Given the description of an element on the screen output the (x, y) to click on. 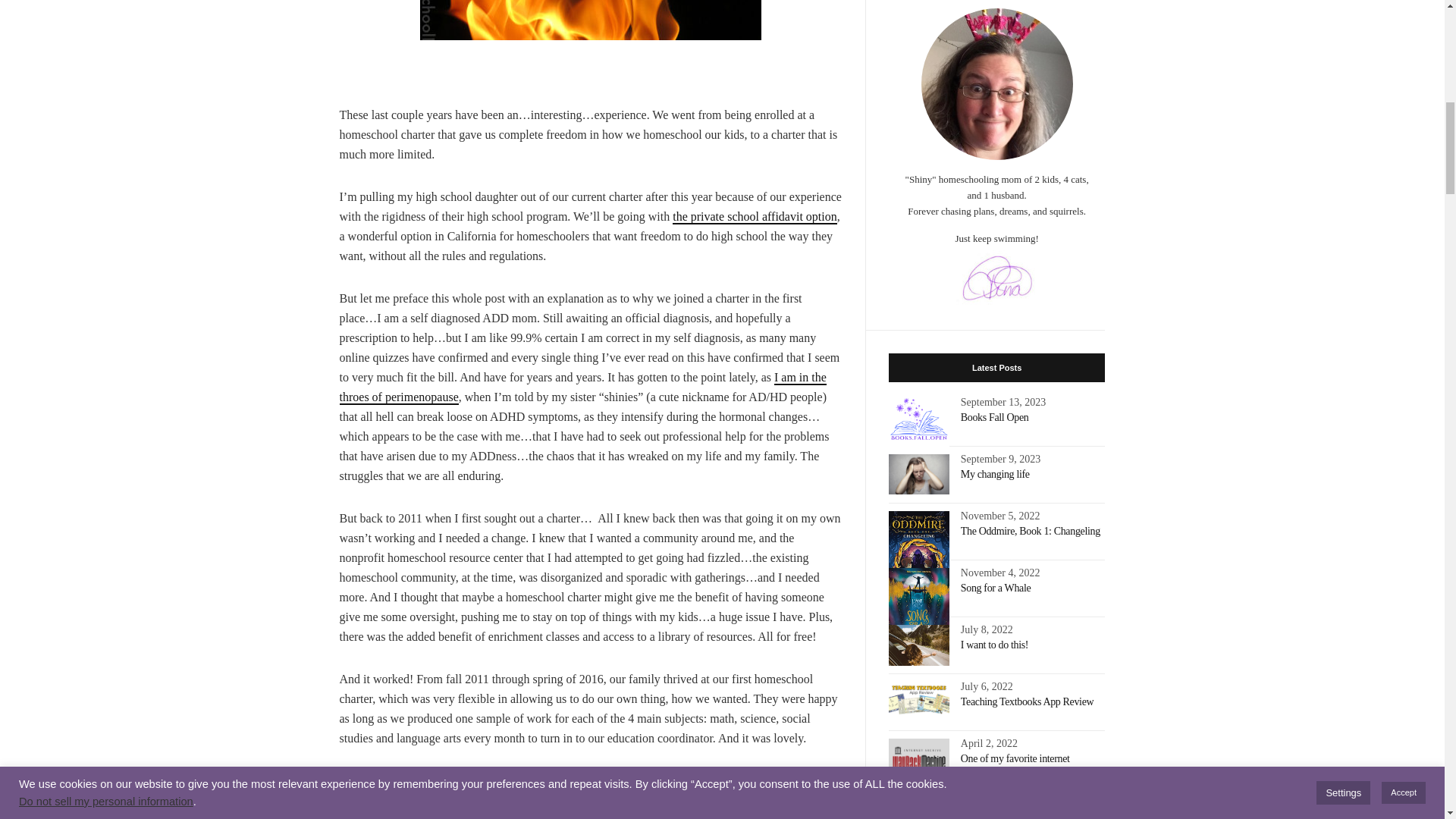
I want to do this! 15 (918, 644)
Journey to a more inspiring high school experience... 1 (590, 20)
Books Fall Open 11 (918, 425)
Teaching Textbooks App Review 16 (918, 697)
My changing life 12 (918, 473)
